Given the description of an element on the screen output the (x, y) to click on. 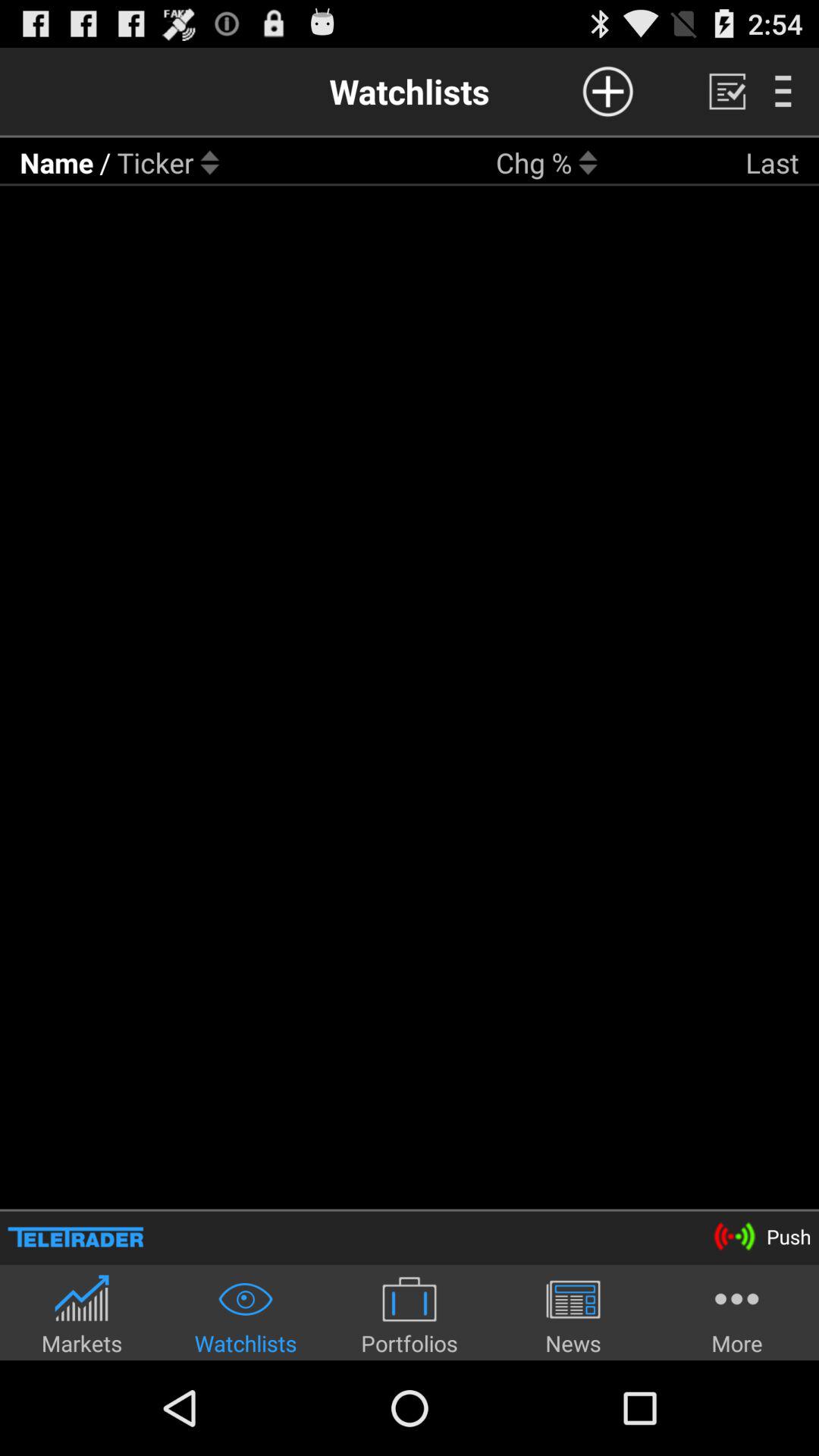
launch the news (573, 1314)
